Given the description of an element on the screen output the (x, y) to click on. 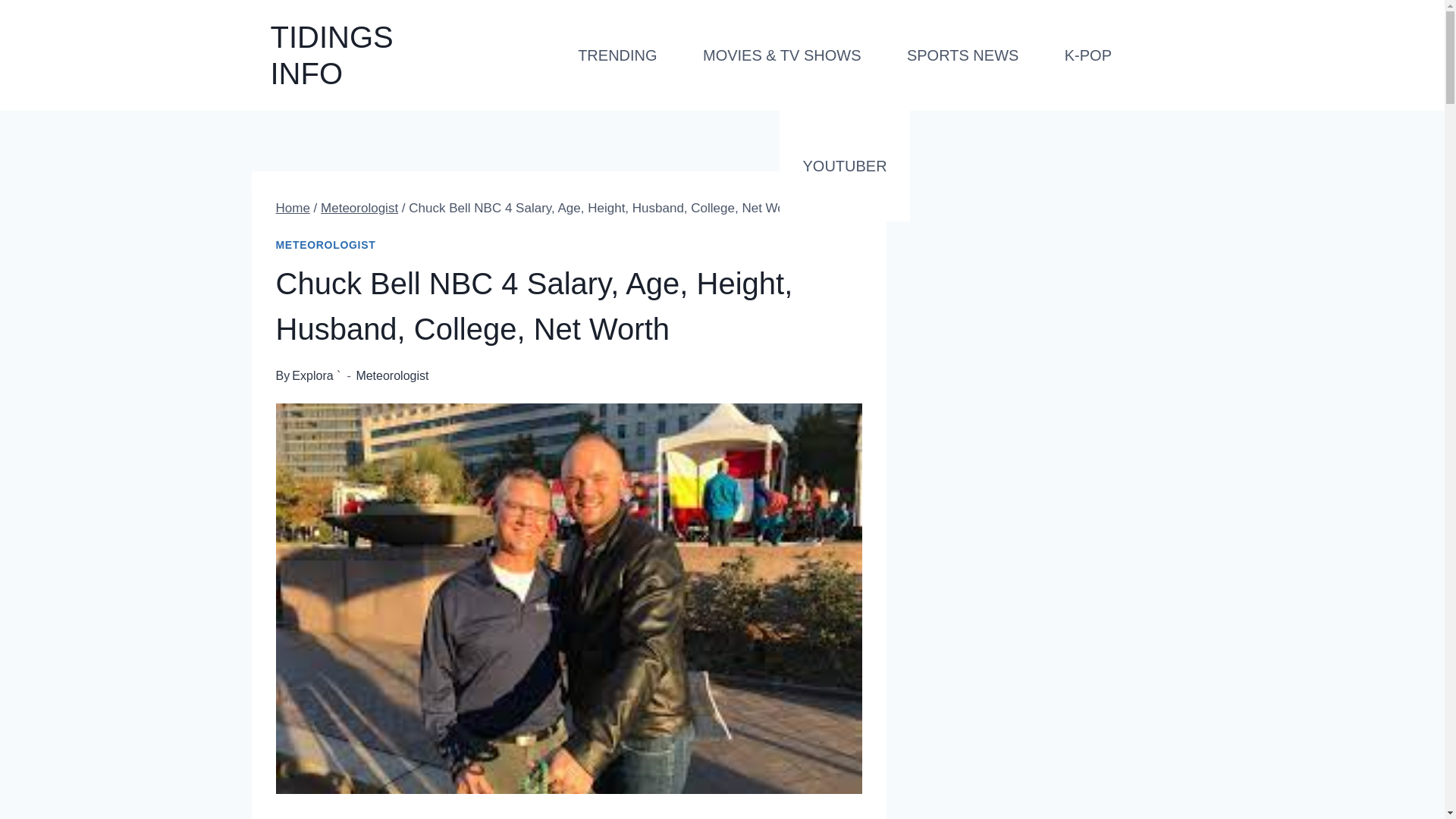
TRENDING (616, 55)
SPORTS NEWS (962, 55)
TIDINGS INFO (368, 54)
Meteorologist (358, 207)
Meteorologist (391, 375)
Home (293, 207)
YOUTUBER (844, 165)
METEOROLOGIST (325, 244)
